Given the description of an element on the screen output the (x, y) to click on. 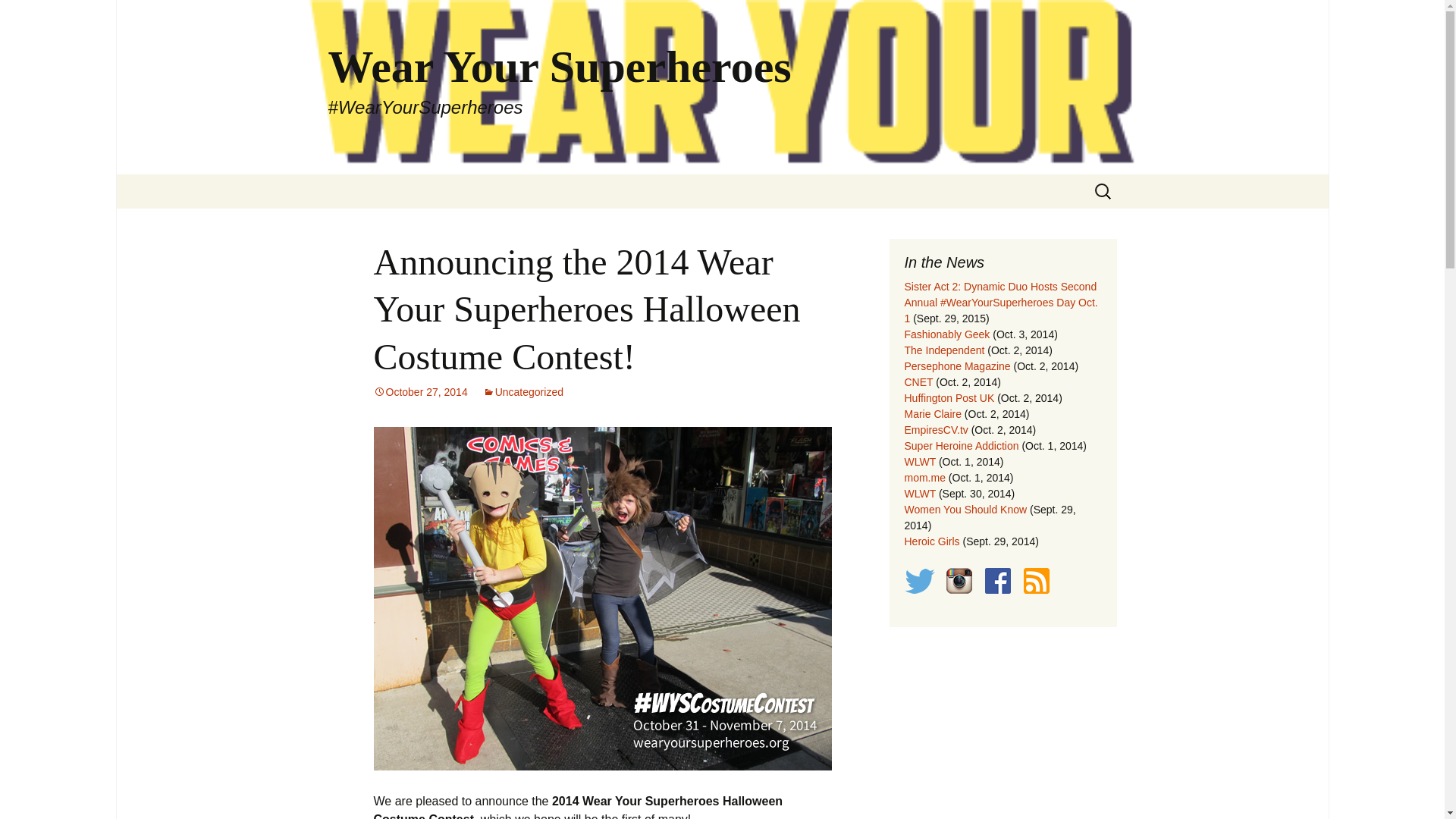
October 27, 2014 (419, 391)
CNET (918, 381)
Super Heroine Addiction (960, 445)
Search (34, 15)
Marie Claire (932, 413)
Search (18, 15)
WLWT (919, 461)
Persephone Magazine (957, 366)
Women You Should Know (965, 509)
